Given the description of an element on the screen output the (x, y) to click on. 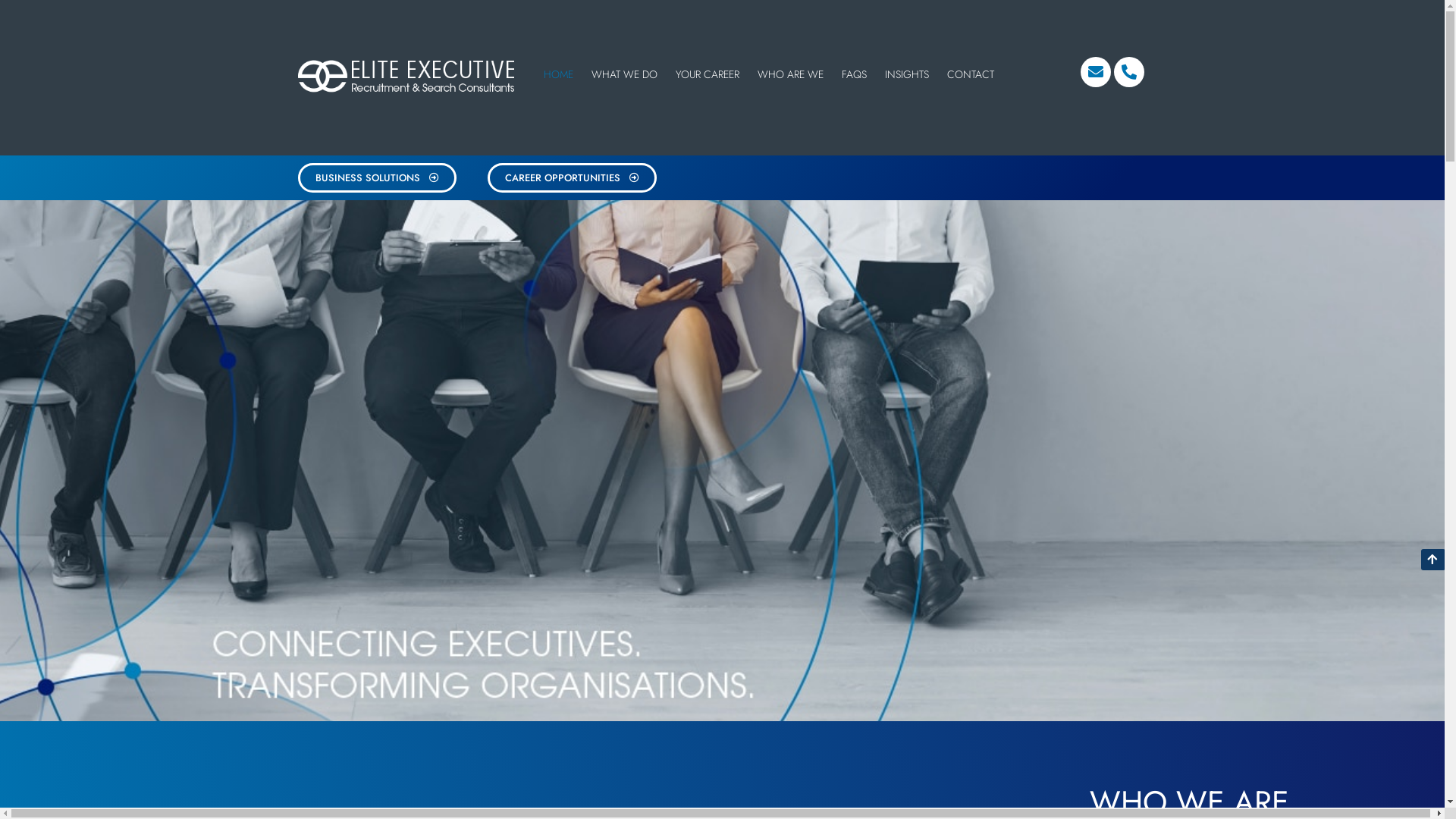
CONTACT Element type: text (970, 73)
HOME Element type: text (558, 73)
BUSINESS SOLUTIONS Element type: text (376, 177)
YOUR CAREER Element type: text (707, 73)
FAQS Element type: text (853, 73)
WHO ARE WE Element type: text (790, 73)
WHAT WE DO Element type: text (624, 73)
INSIGHTS Element type: text (906, 73)
Elite executive | elite executive Element type: hover (407, 75)
CAREER OPPORTUNITIES Element type: text (570, 177)
